Given the description of an element on the screen output the (x, y) to click on. 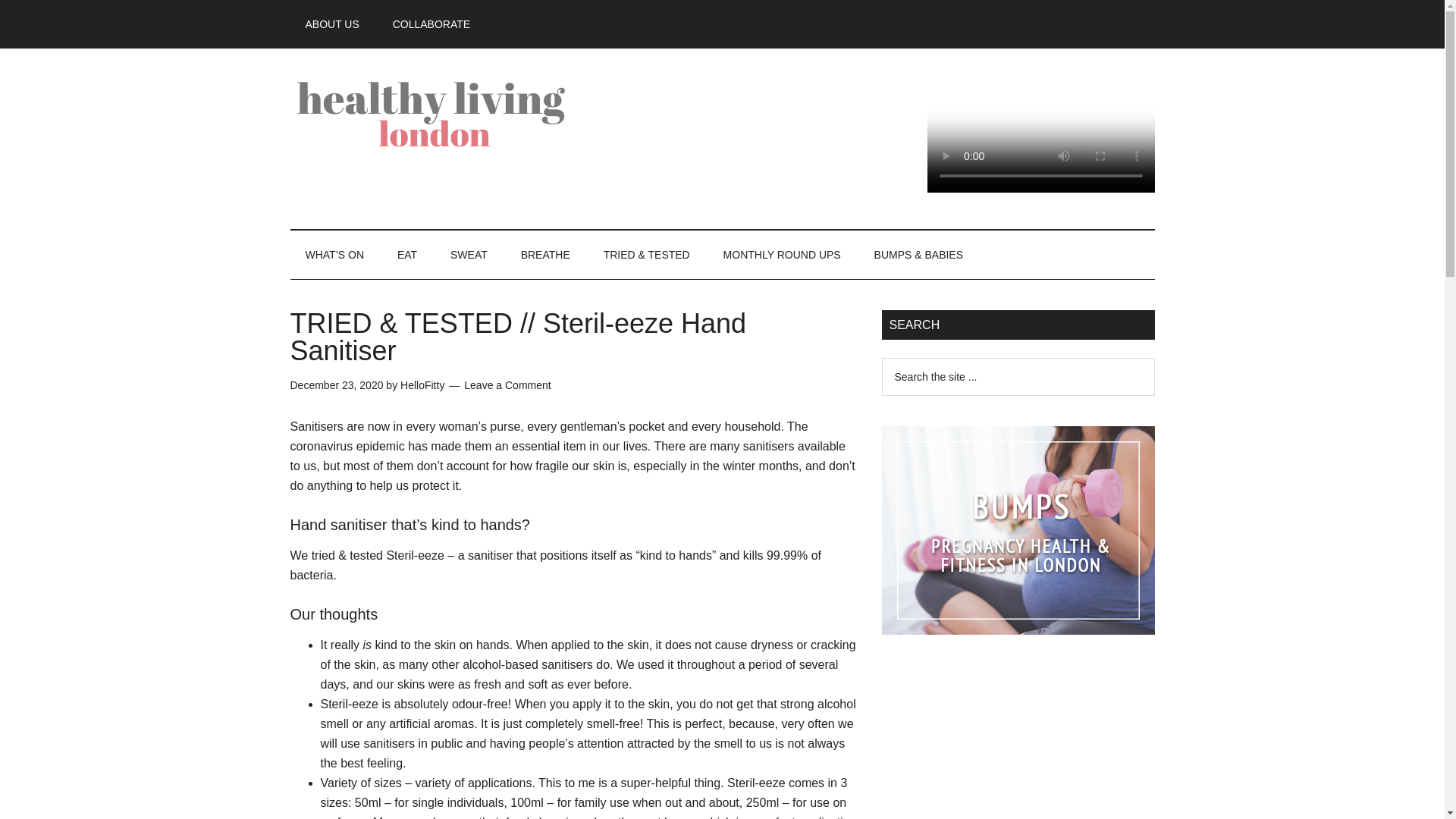
Leave a Comment (507, 385)
COLLABORATE (430, 24)
Advertisement (1017, 744)
HelloFitty (422, 385)
ABOUT US (331, 24)
EAT (406, 254)
MONTHLY ROUND UPS (781, 254)
Healthy Living London (433, 112)
SWEAT (468, 254)
